Given the description of an element on the screen output the (x, y) to click on. 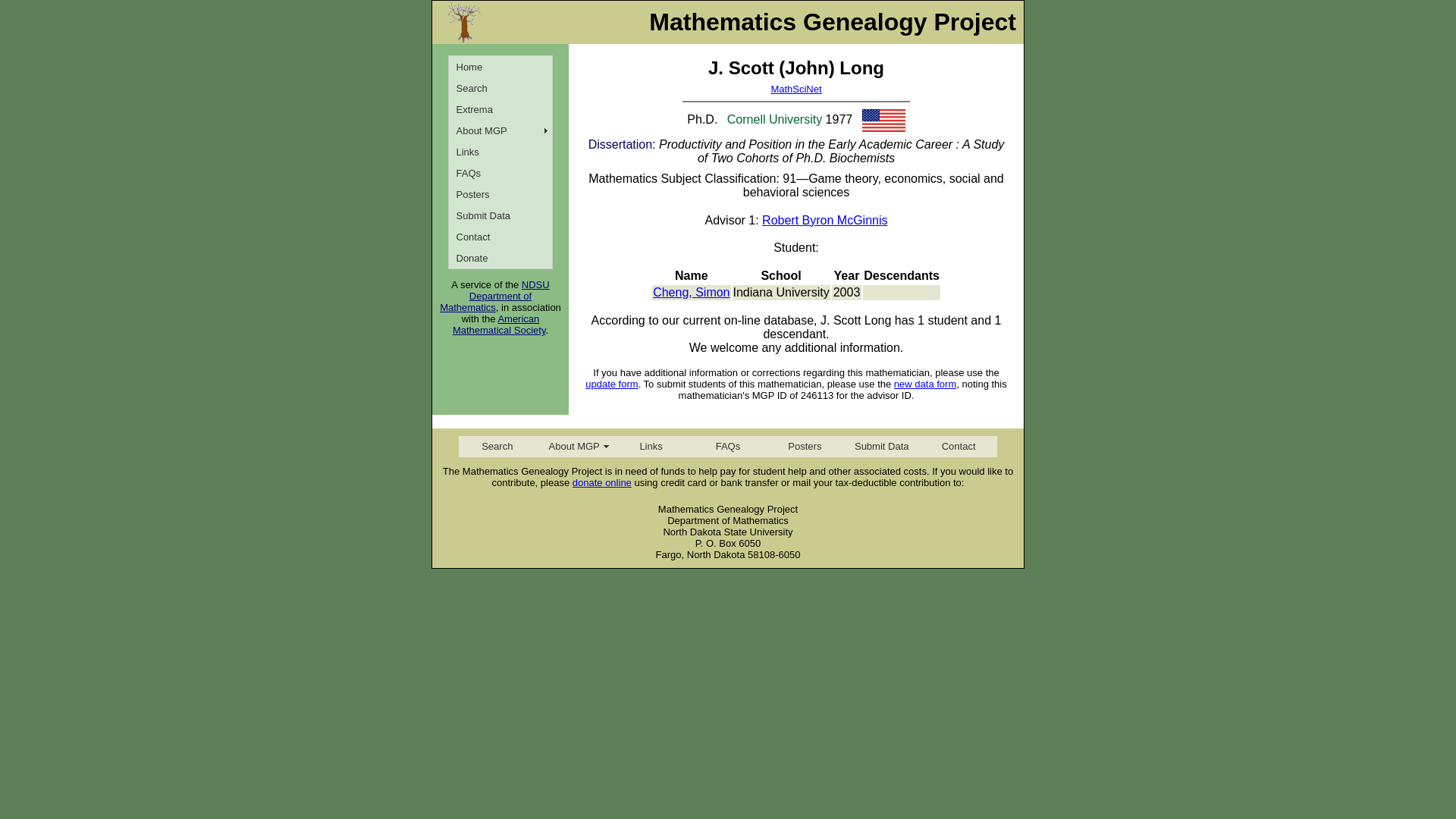
About MGP (573, 446)
About MGP (500, 129)
Search (500, 87)
Robert Byron McGinnis (823, 219)
Department of Mathematics (485, 301)
donate online (601, 482)
FAQs (500, 172)
new data form (924, 383)
FAQs (726, 446)
UnitedStates (883, 119)
Contact (957, 446)
Search (496, 446)
Posters (500, 193)
Links (500, 151)
Frequently Asked Questions (500, 172)
